Given the description of an element on the screen output the (x, y) to click on. 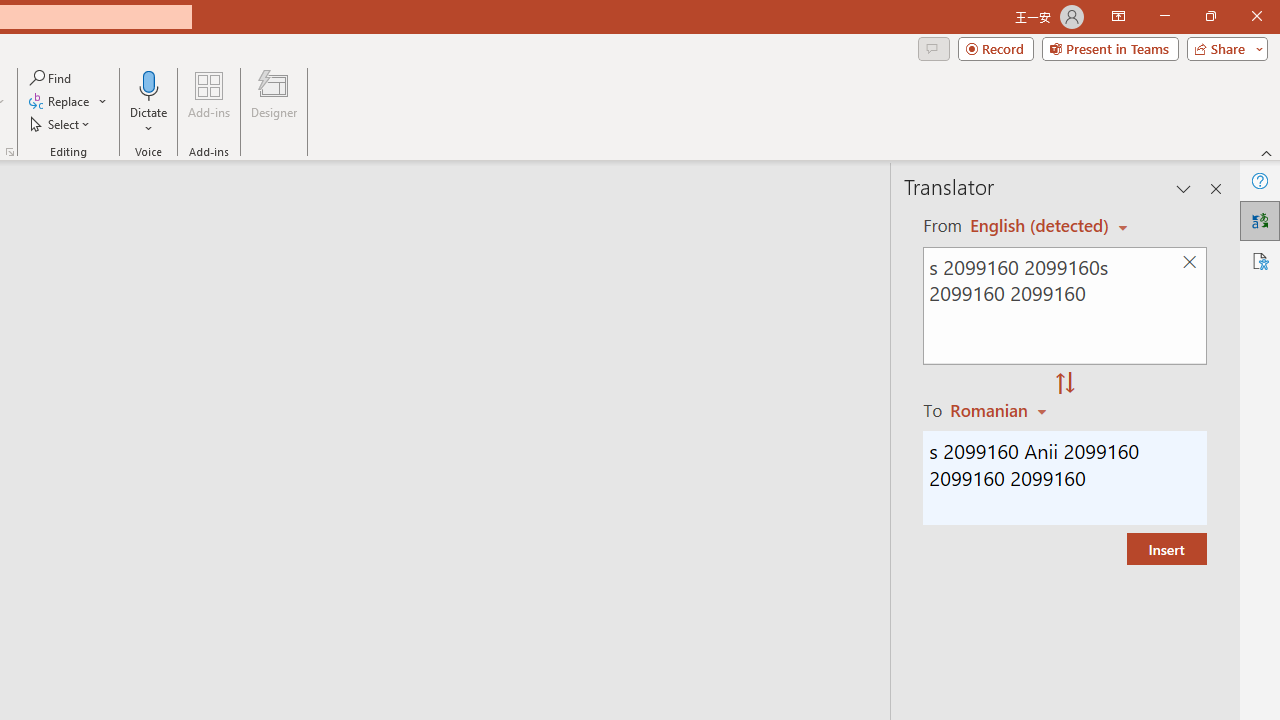
Format Object... (9, 151)
Select (61, 124)
Translator (1260, 220)
Czech (detected) (1039, 225)
Clear text (1189, 262)
